Given the description of an element on the screen output the (x, y) to click on. 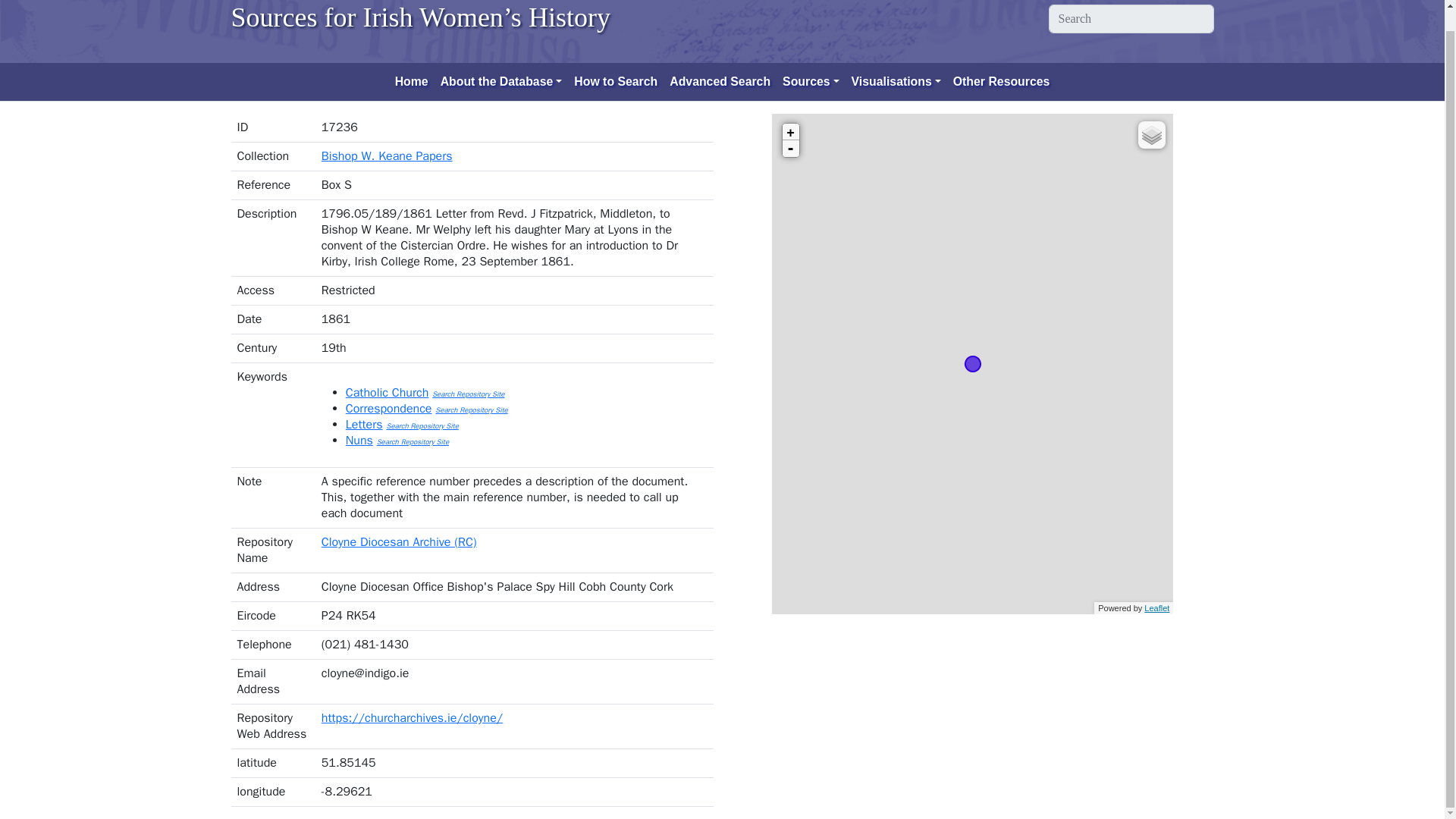
Other Resources (1002, 81)
Sources (810, 81)
Search Repository Site (412, 441)
Search Repository Site (470, 409)
Search Repository Site (467, 393)
Zoom in (791, 131)
- (791, 148)
Correspondence (389, 408)
Advanced Search (719, 81)
Bishop W. Keane Papers (386, 155)
